Given the description of an element on the screen output the (x, y) to click on. 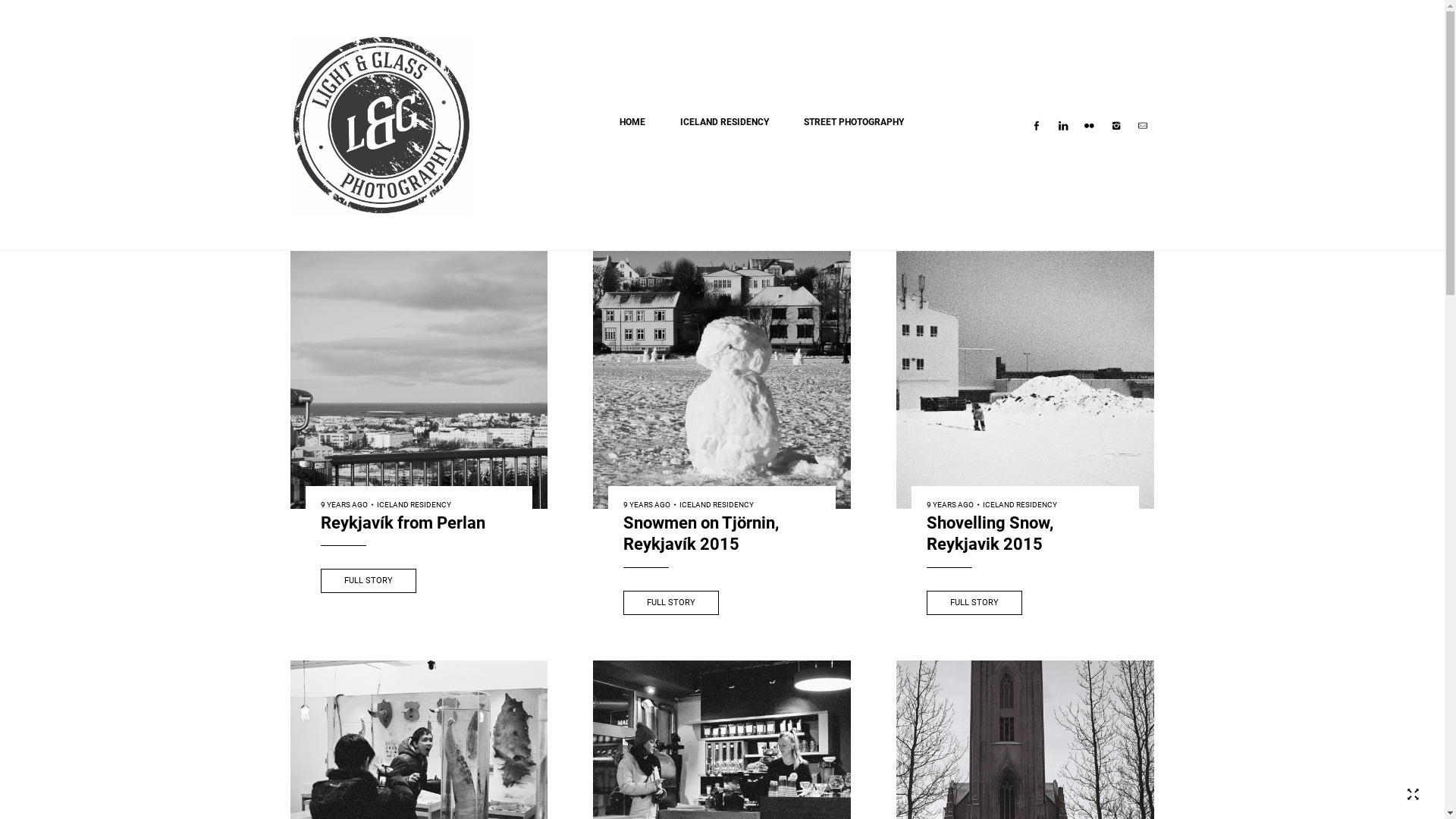
ICELAND RESIDENCY Element type: text (723, 121)
ICELAND RESIDENCY Element type: text (1019, 504)
ICELAND RESIDENCY Element type: text (413, 504)
9 YEARS AGO Element type: text (343, 504)
Shovelling Snow, Reykjavik 2015 Element type: text (1024, 534)
ICELAND RESIDENCY Element type: text (716, 504)
STREET PHOTOGRAPHY Element type: text (853, 121)
HOME Element type: text (631, 121)
FULL STORY Element type: text (974, 602)
FULL STORY Element type: text (367, 580)
9 YEARS AGO Element type: text (646, 504)
9 YEARS AGO Element type: text (949, 504)
FULL STORY Element type: text (670, 602)
